Given the description of an element on the screen output the (x, y) to click on. 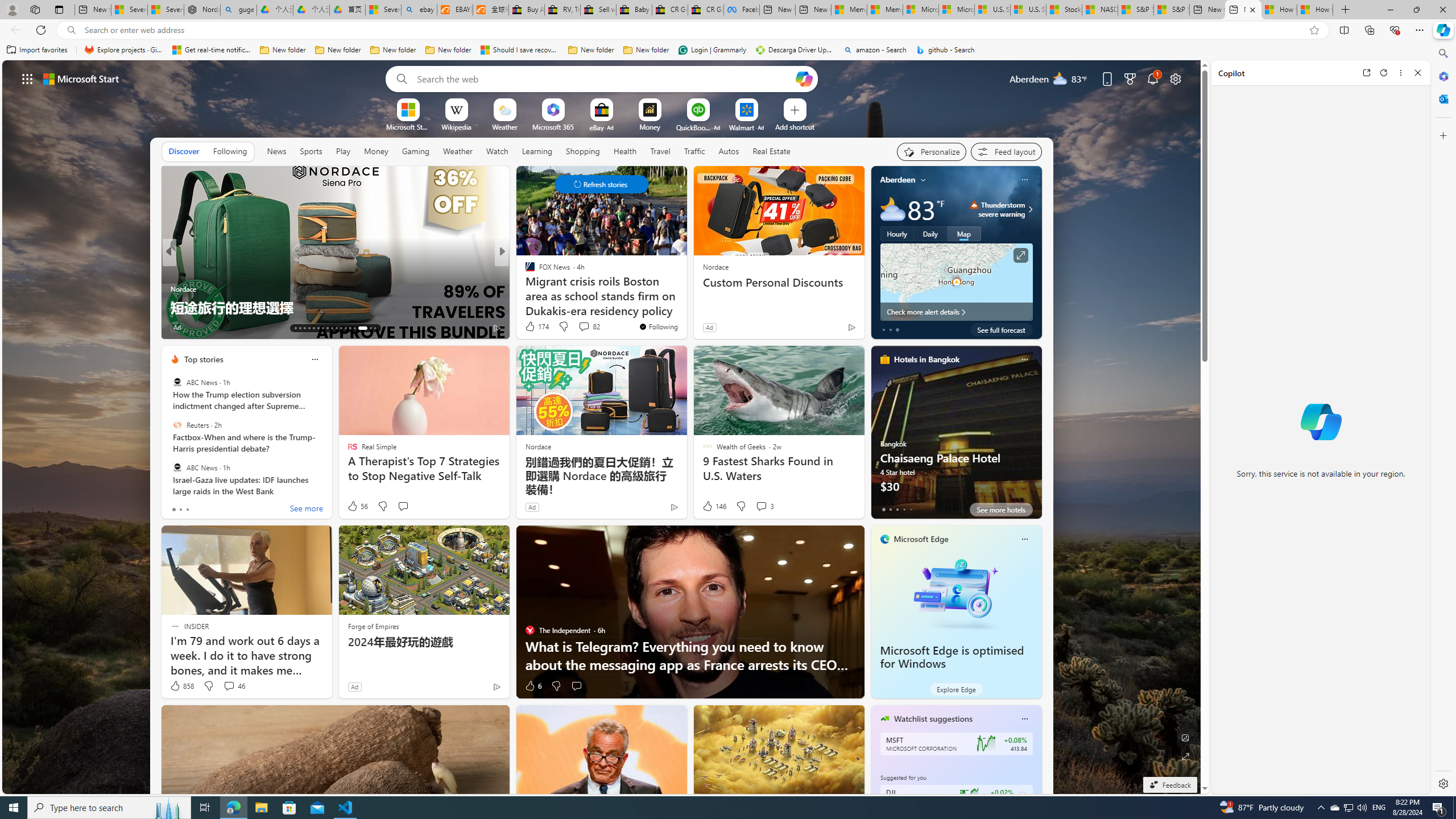
Microsoft Start Sports (407, 126)
AutomationID: tab-24 (345, 328)
AutomationID: tab-22 (336, 328)
Page settings (1175, 78)
Shopping (583, 151)
Learning (536, 151)
Notifications (1152, 78)
858 Like (181, 685)
Start the conversation (576, 685)
Traffic (694, 151)
